Given the description of an element on the screen output the (x, y) to click on. 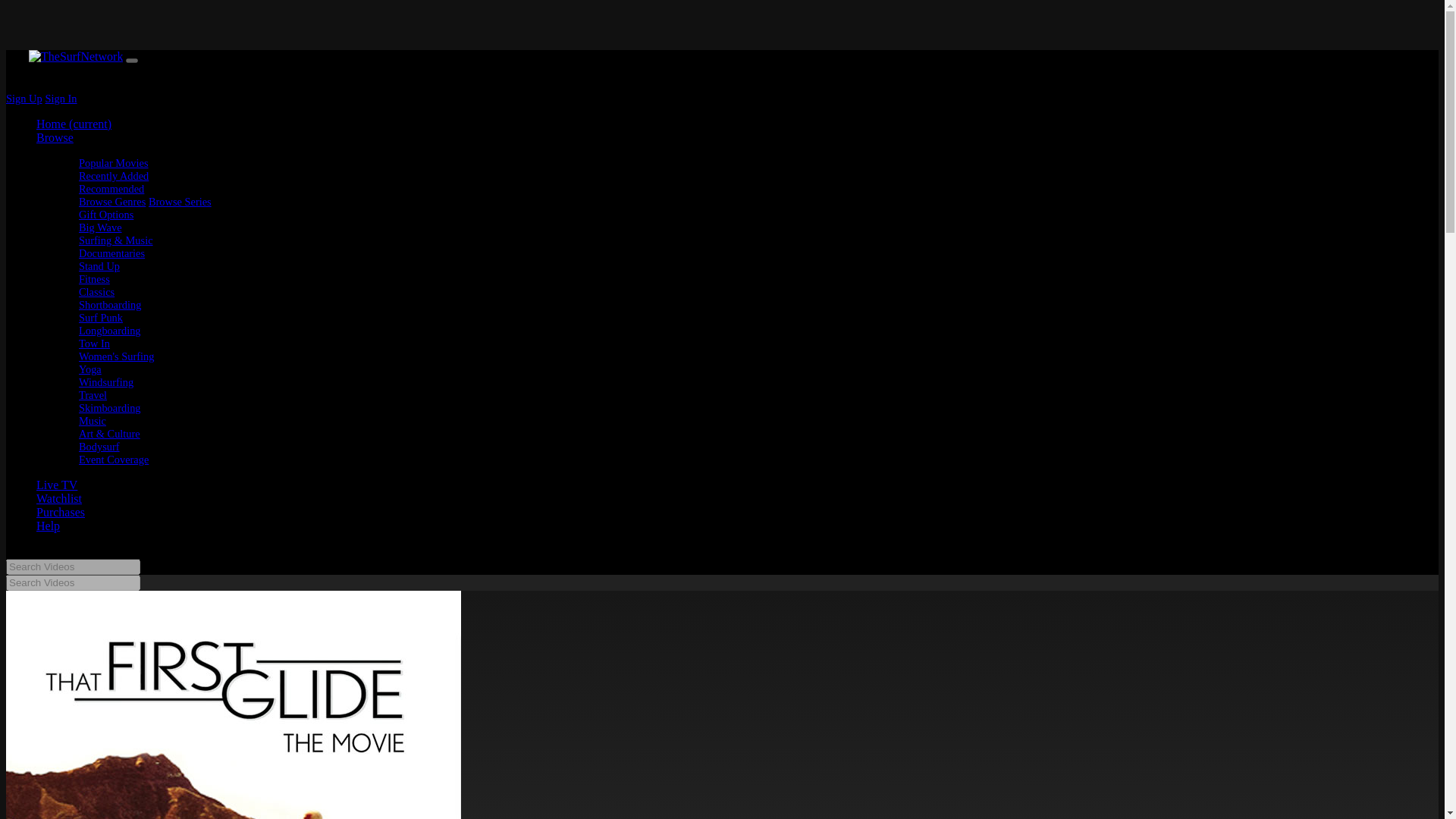
Help (47, 525)
Skimboarding (109, 408)
Purchases (60, 512)
Shortboarding (109, 304)
Music (92, 420)
Recently Added (113, 175)
Browse (55, 137)
Big Wave (100, 227)
Stand Up (98, 265)
Classics (96, 291)
